Given the description of an element on the screen output the (x, y) to click on. 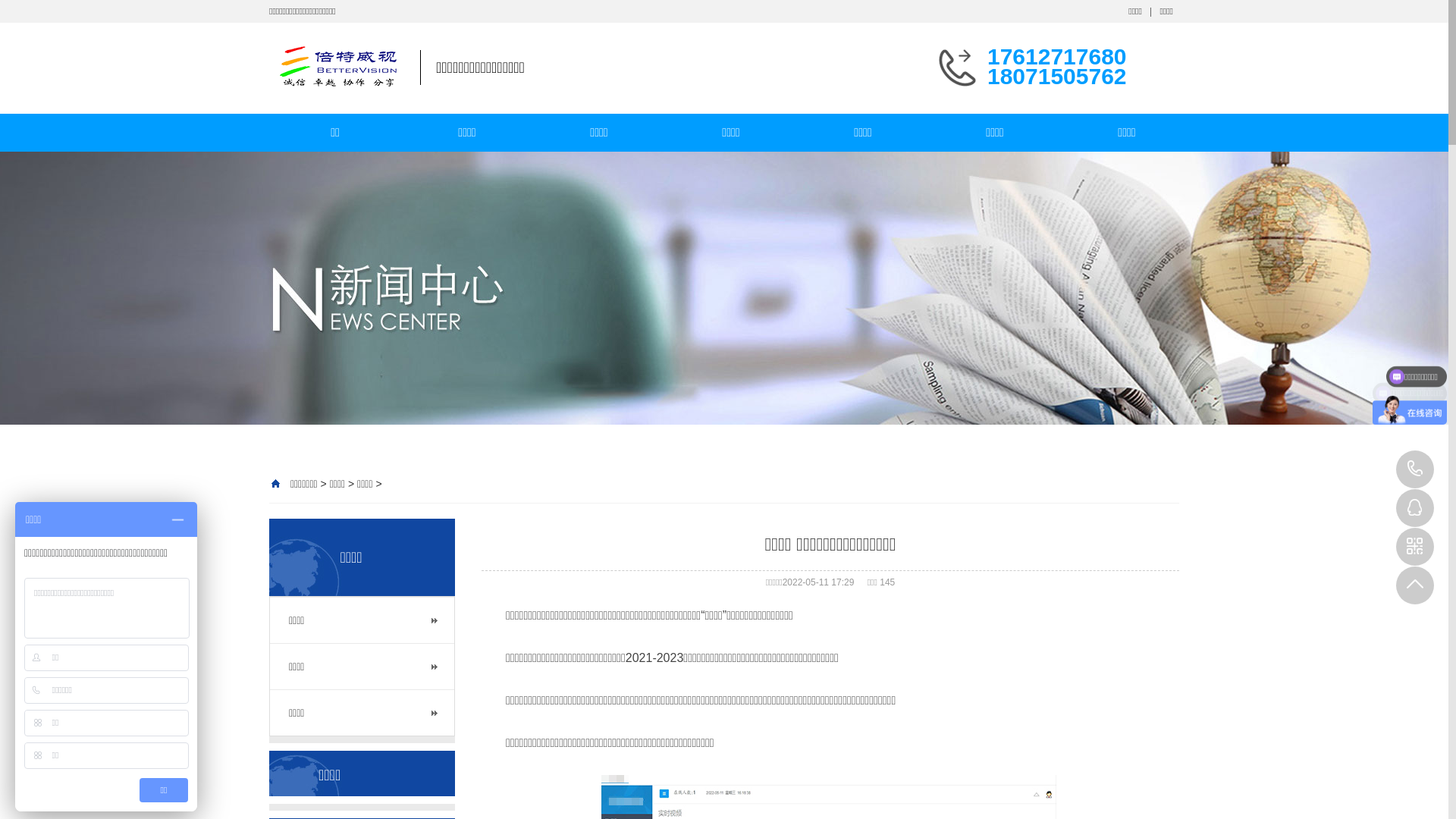
17612717680 Element type: text (1415, 469)
